Given the description of an element on the screen output the (x, y) to click on. 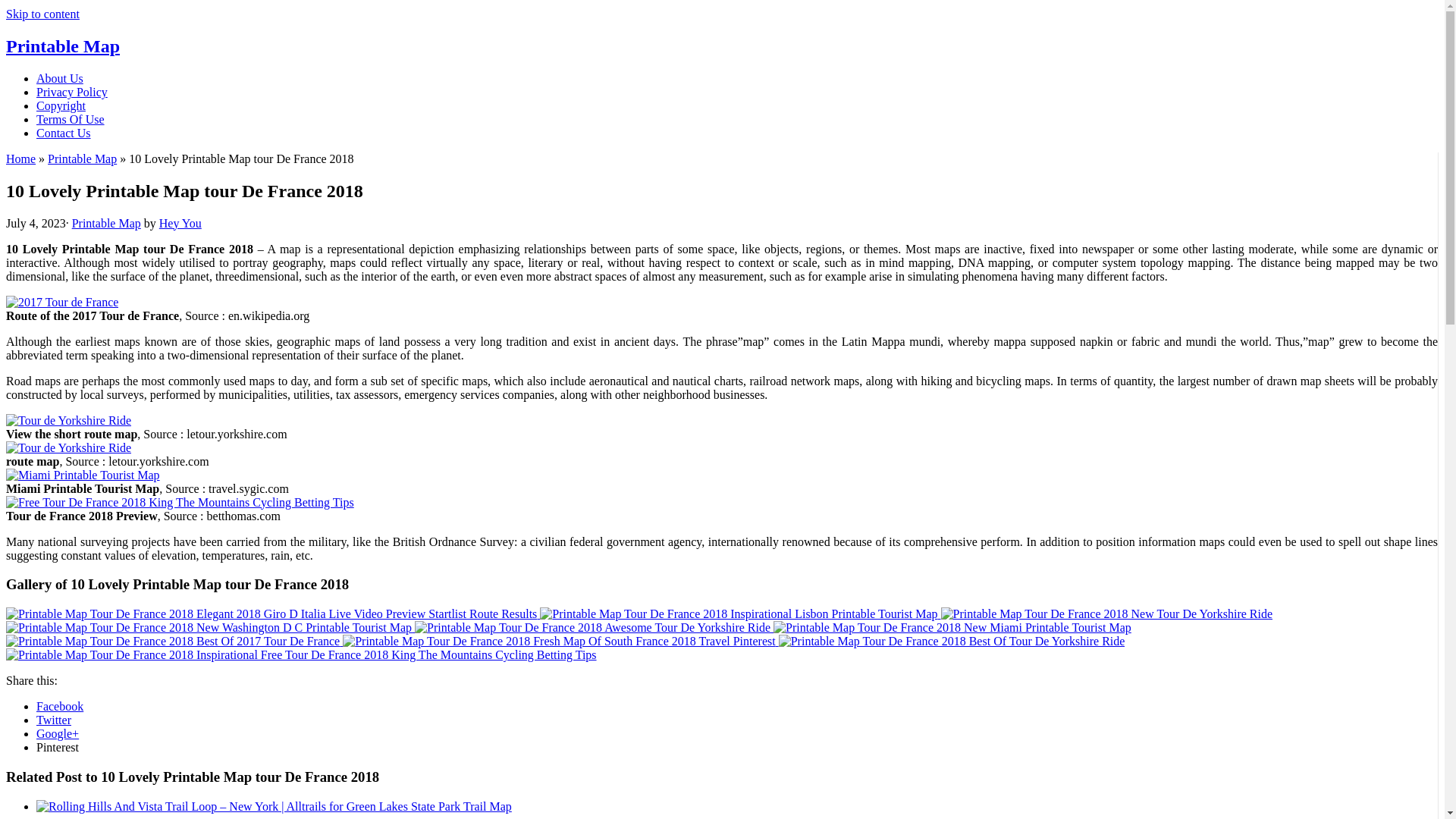
Printable Map Tour De France 2018 New Tour De Yorkshire Ride (1106, 613)
Privacy Policy (71, 91)
Home (19, 158)
Hey You (180, 223)
About Us (59, 78)
Pinterest (57, 747)
Twitter (53, 719)
